Given the description of an element on the screen output the (x, y) to click on. 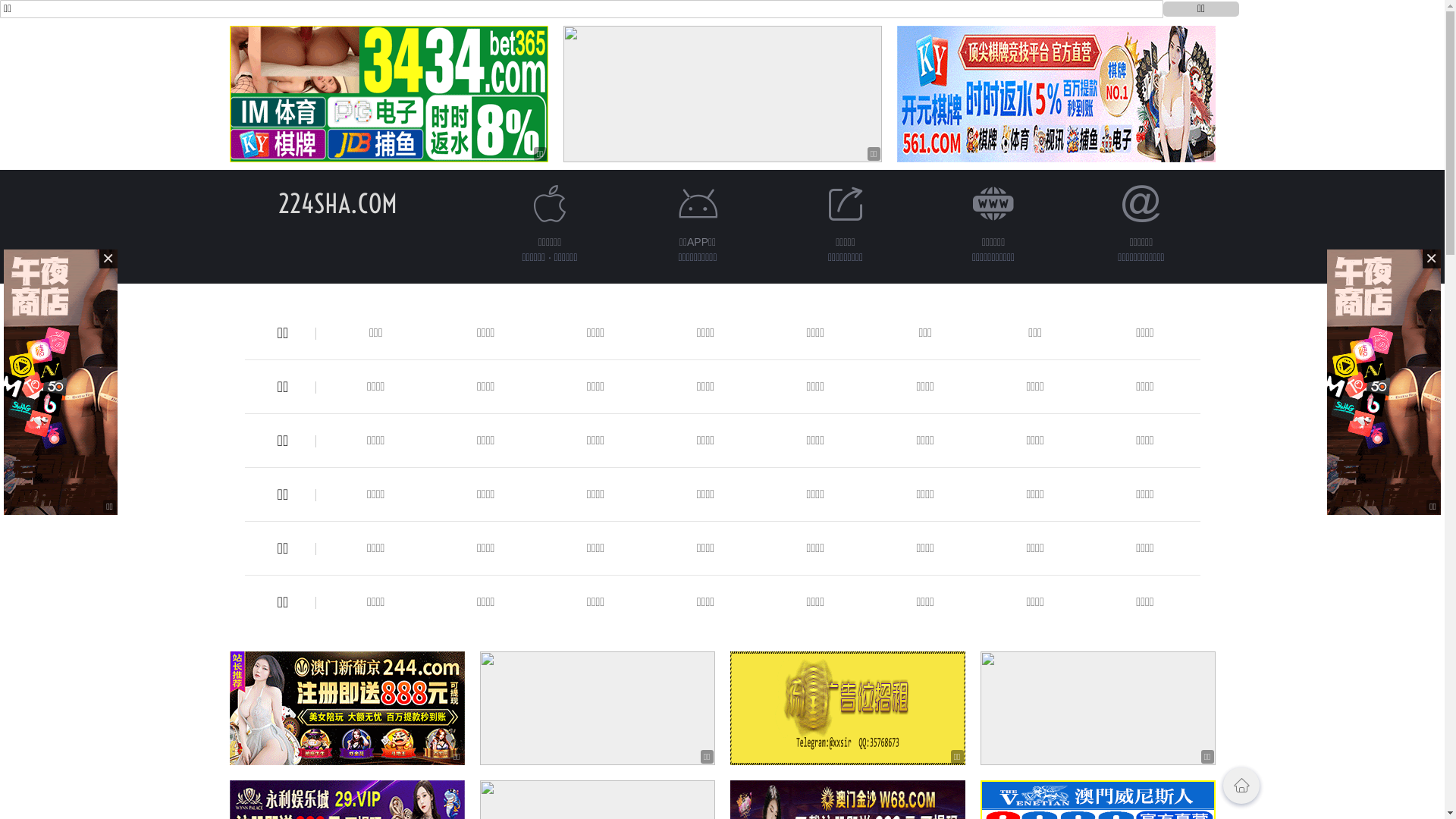
224SHA.COM Element type: text (337, 203)
